Given the description of an element on the screen output the (x, y) to click on. 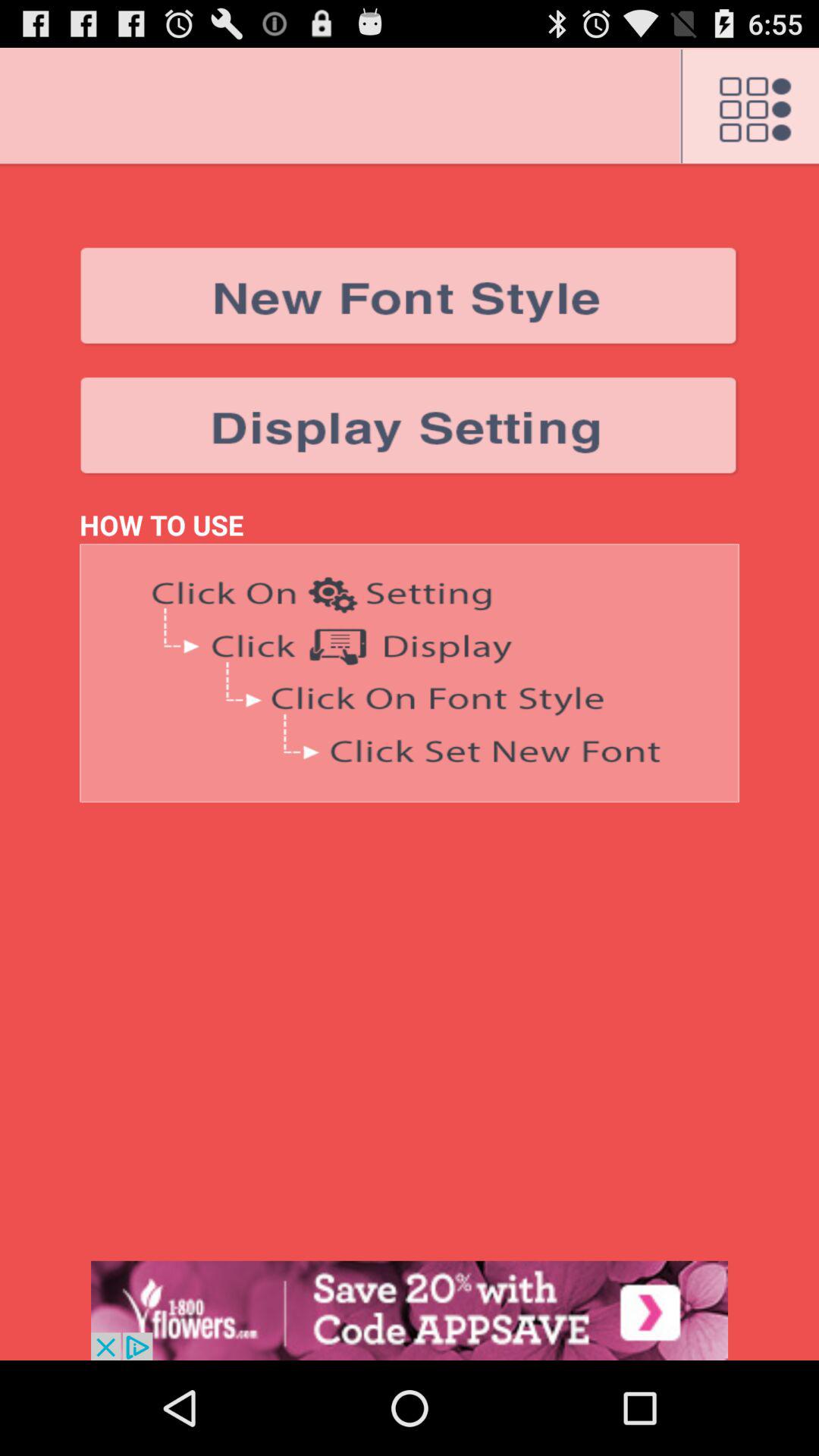
app instructions (409, 672)
